Given the description of an element on the screen output the (x, y) to click on. 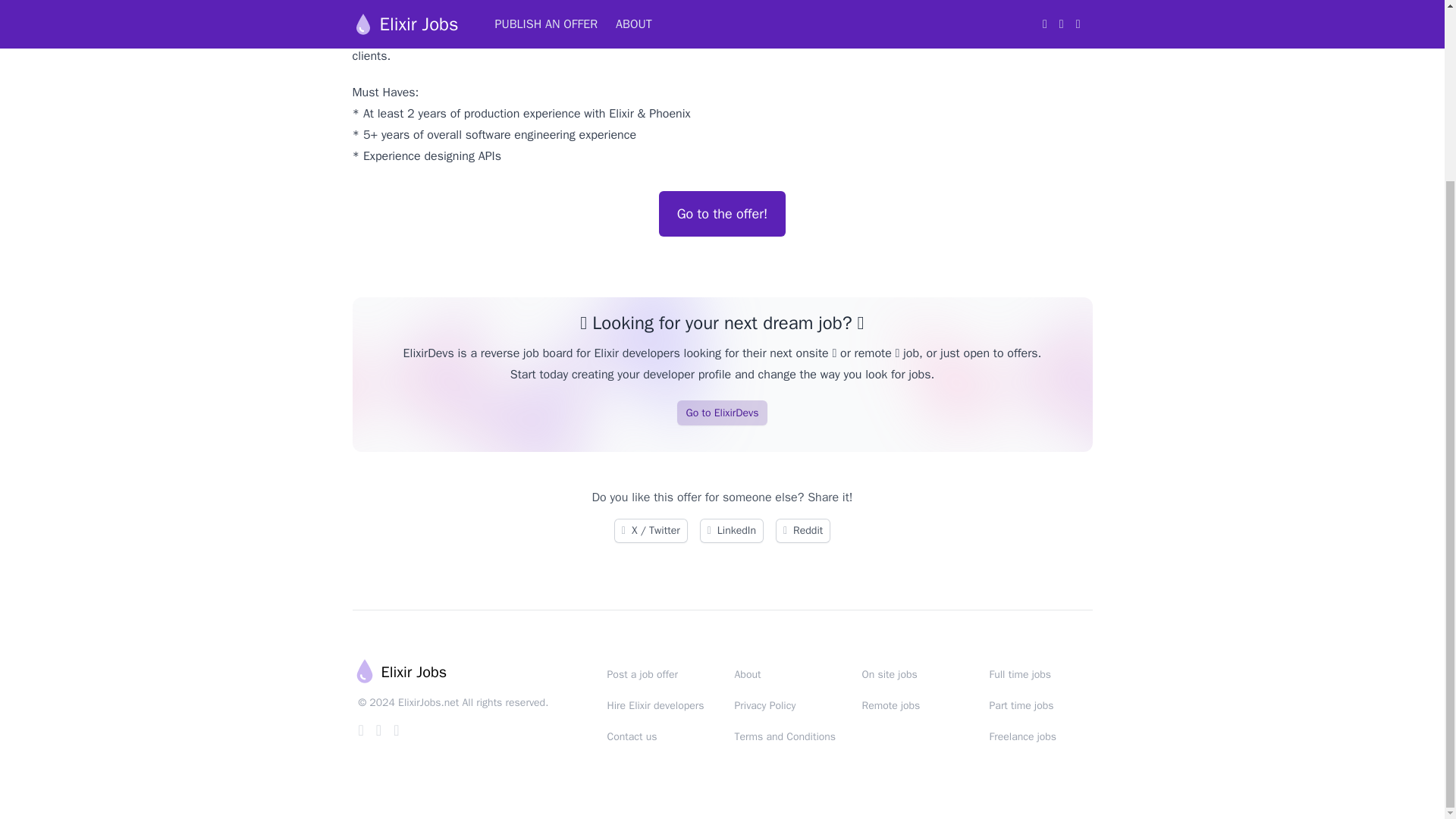
On site jobs (889, 674)
Go to the offer! (722, 213)
Full time jobs (1019, 674)
Go to ElixirDevs (722, 412)
Part time jobs (1020, 705)
About (746, 674)
Elixir Jobs (399, 671)
LinkedIn (731, 530)
Freelance jobs (1022, 736)
Contact us (631, 736)
Hire Elixir developers (655, 705)
Post a job offer (642, 674)
Terms and Conditions (784, 736)
Remote jobs (890, 705)
Reddit (802, 530)
